Given the description of an element on the screen output the (x, y) to click on. 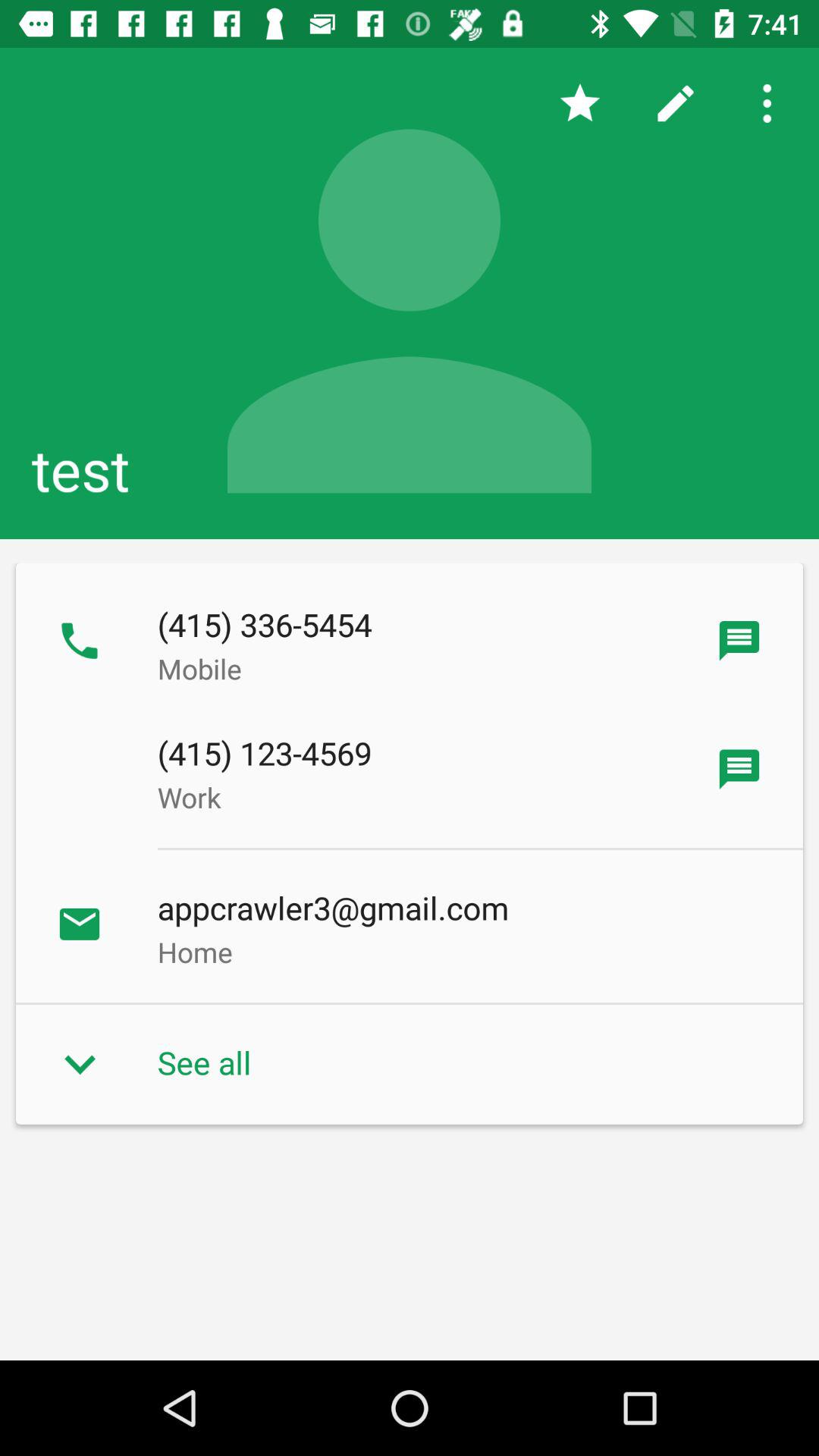
launch item above the test icon (579, 103)
